Given the description of an element on the screen output the (x, y) to click on. 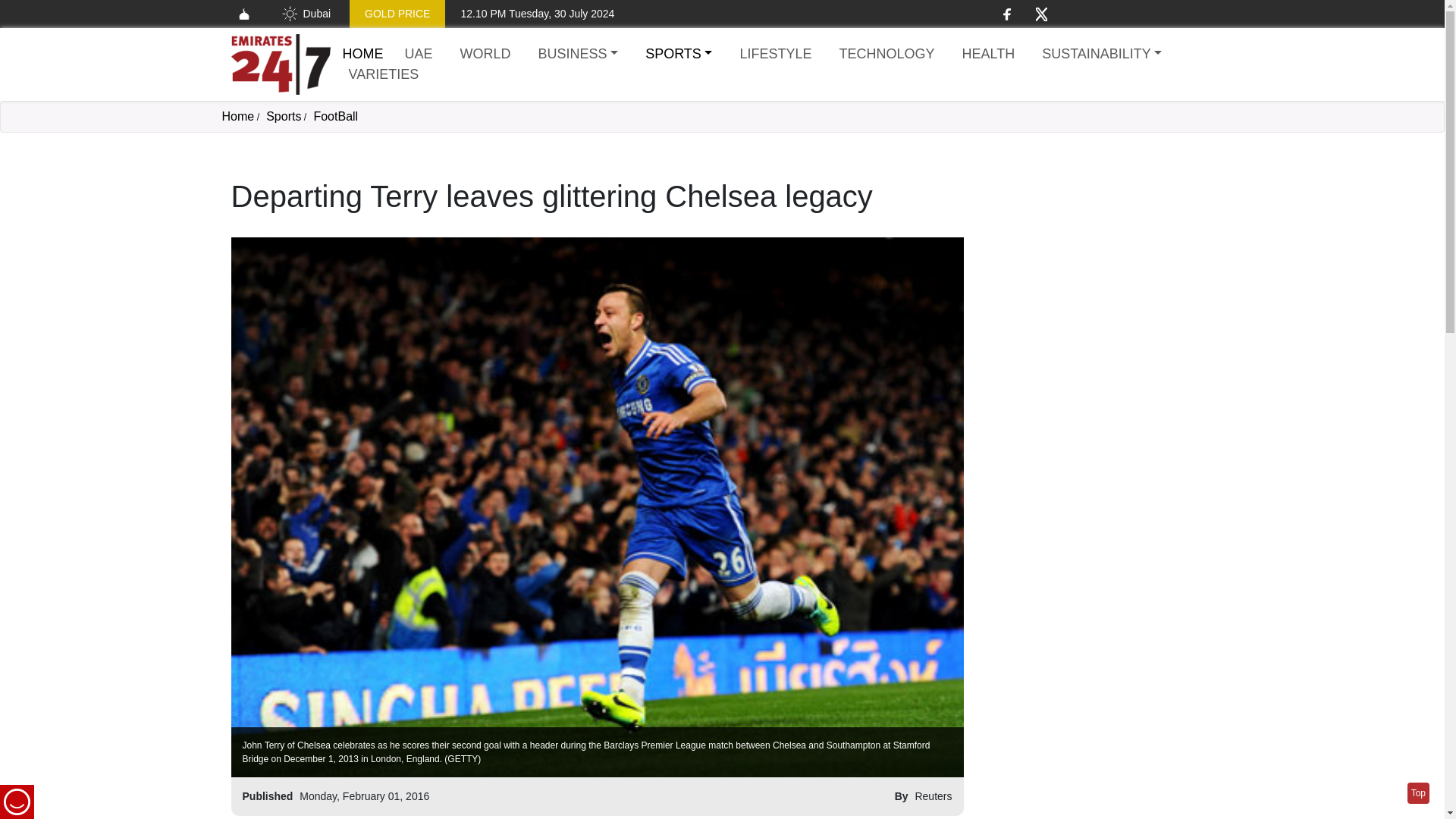
Sports (283, 115)
Home (280, 64)
BUSINESS (578, 54)
FootBall (335, 115)
Home (237, 115)
SUSTAINABILITY (1101, 54)
GOLD PRICE (397, 13)
Home (363, 53)
Dubai (305, 13)
Go to top (1418, 792)
VARIETIES (383, 74)
HOME (363, 53)
HEALTH (987, 54)
SPORTS (678, 54)
UAE (418, 54)
